Given the description of an element on the screen output the (x, y) to click on. 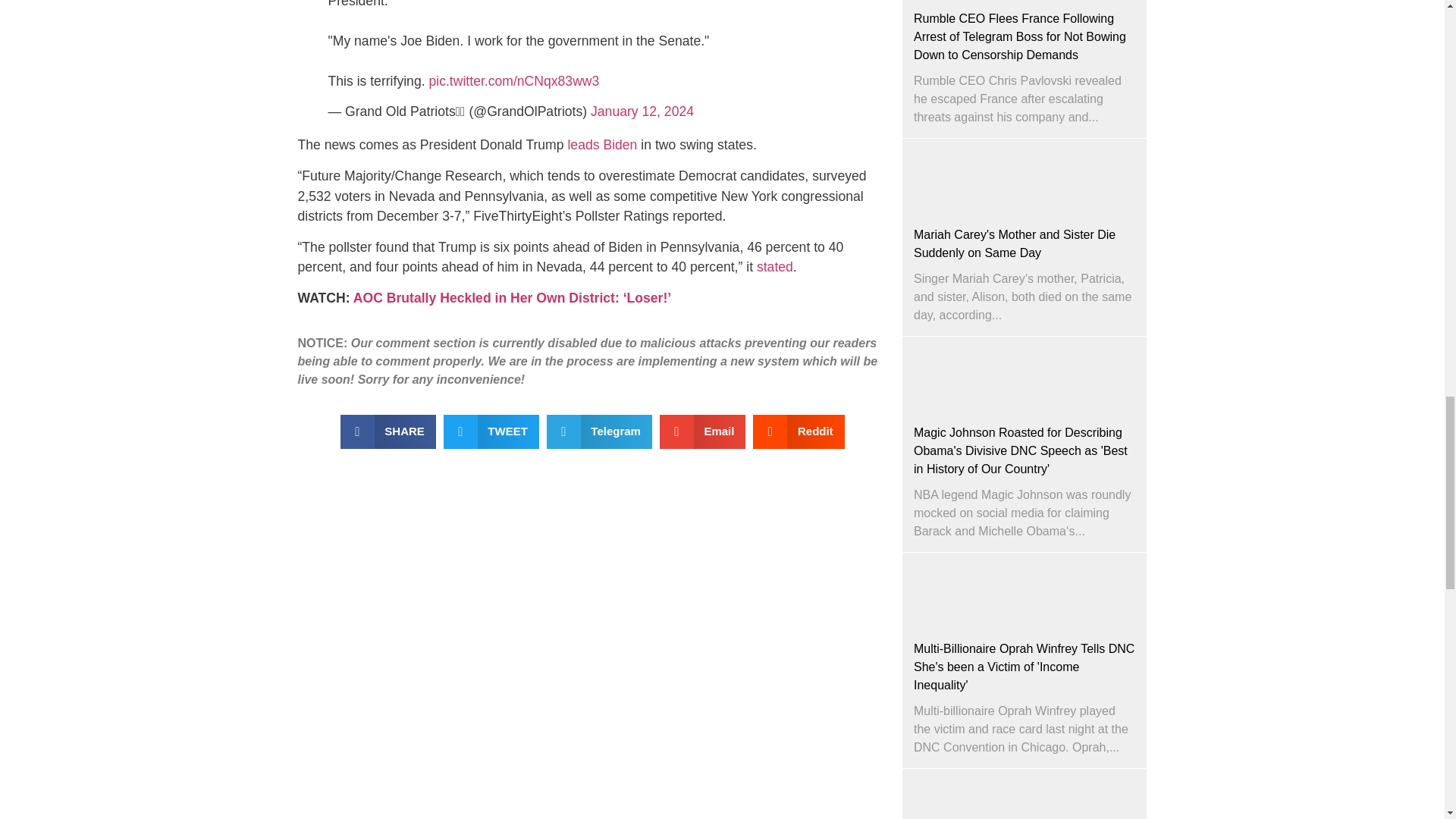
stated (775, 266)
leads Biden (602, 144)
Mariah Carey's Mother and Sister Die Suddenly on Same Day (1014, 243)
January 12, 2024 (642, 111)
Mariah Carey's Mother and Sister Die Suddenly on Same Day (1024, 176)
